Given the description of an element on the screen output the (x, y) to click on. 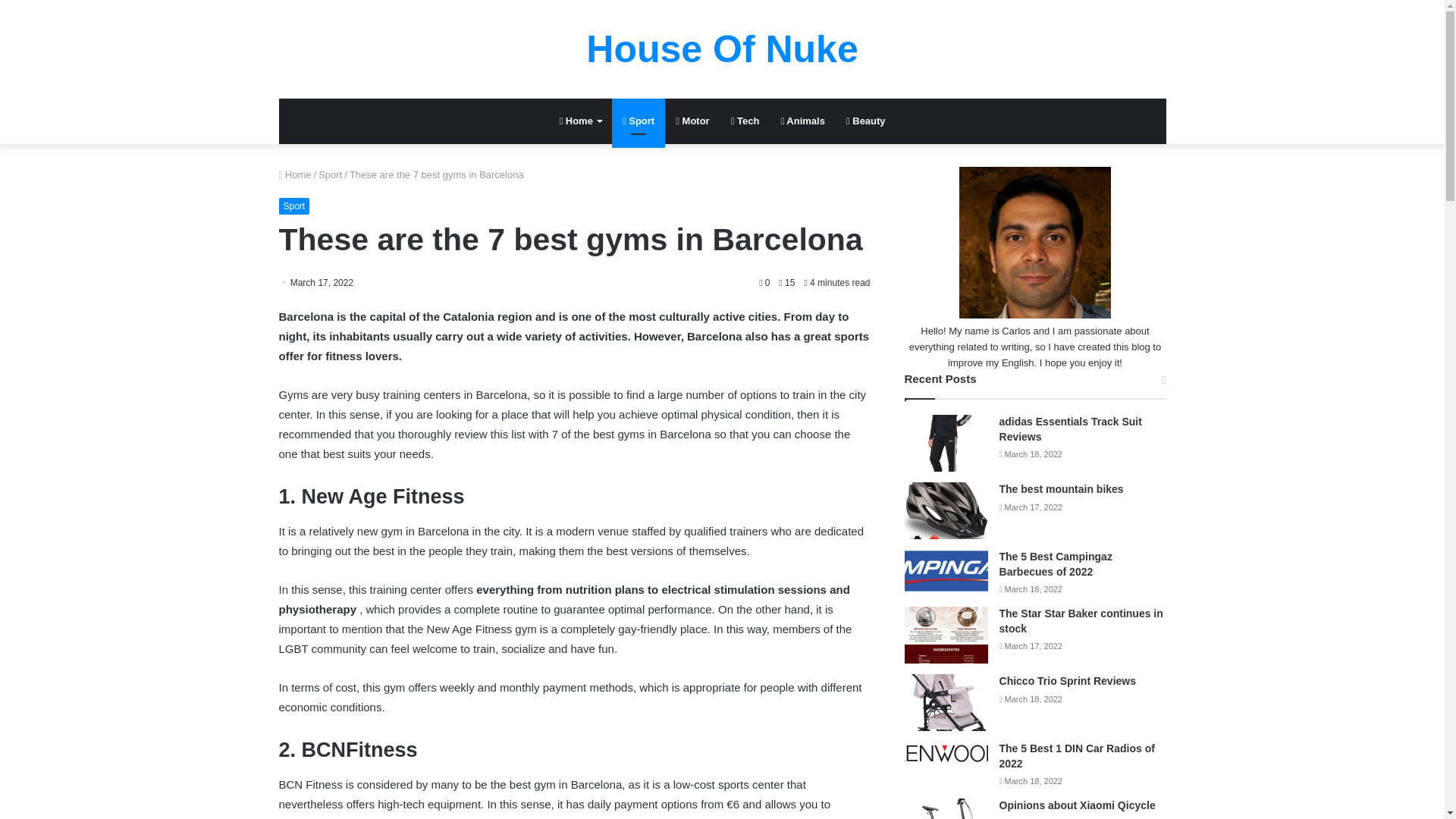
Sport (638, 121)
adidas Essentials Track Suit Reviews (1069, 429)
Home (295, 174)
Beauty (865, 121)
Motor (692, 121)
House Of Nuke (721, 48)
Animals (802, 121)
House Of Nuke (721, 48)
Sport (330, 174)
Tech (745, 121)
The best mountain bikes (1061, 489)
Home (579, 121)
Sport (294, 206)
